Given the description of an element on the screen output the (x, y) to click on. 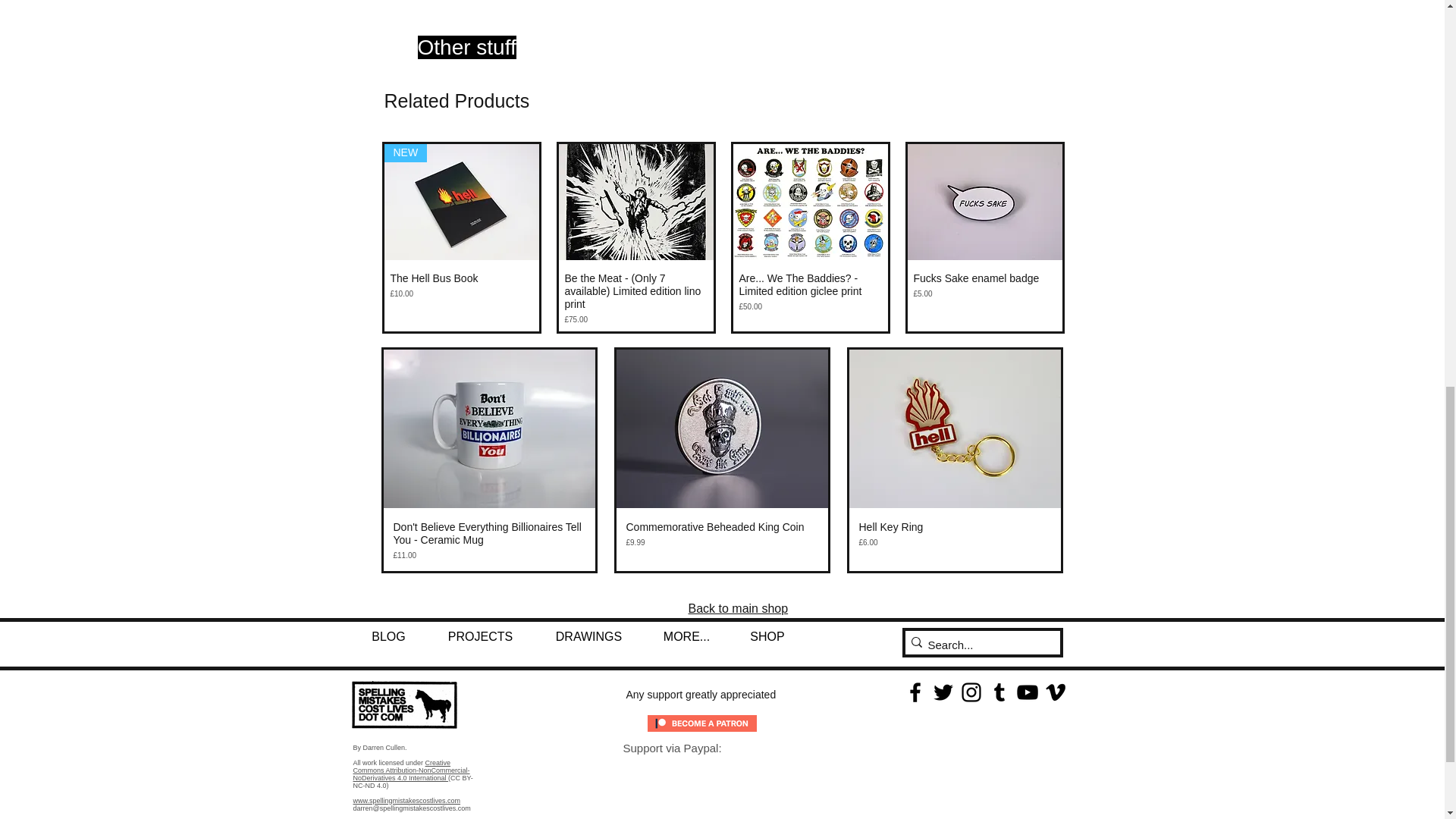
Patreon (702, 723)
